Given the description of an element on the screen output the (x, y) to click on. 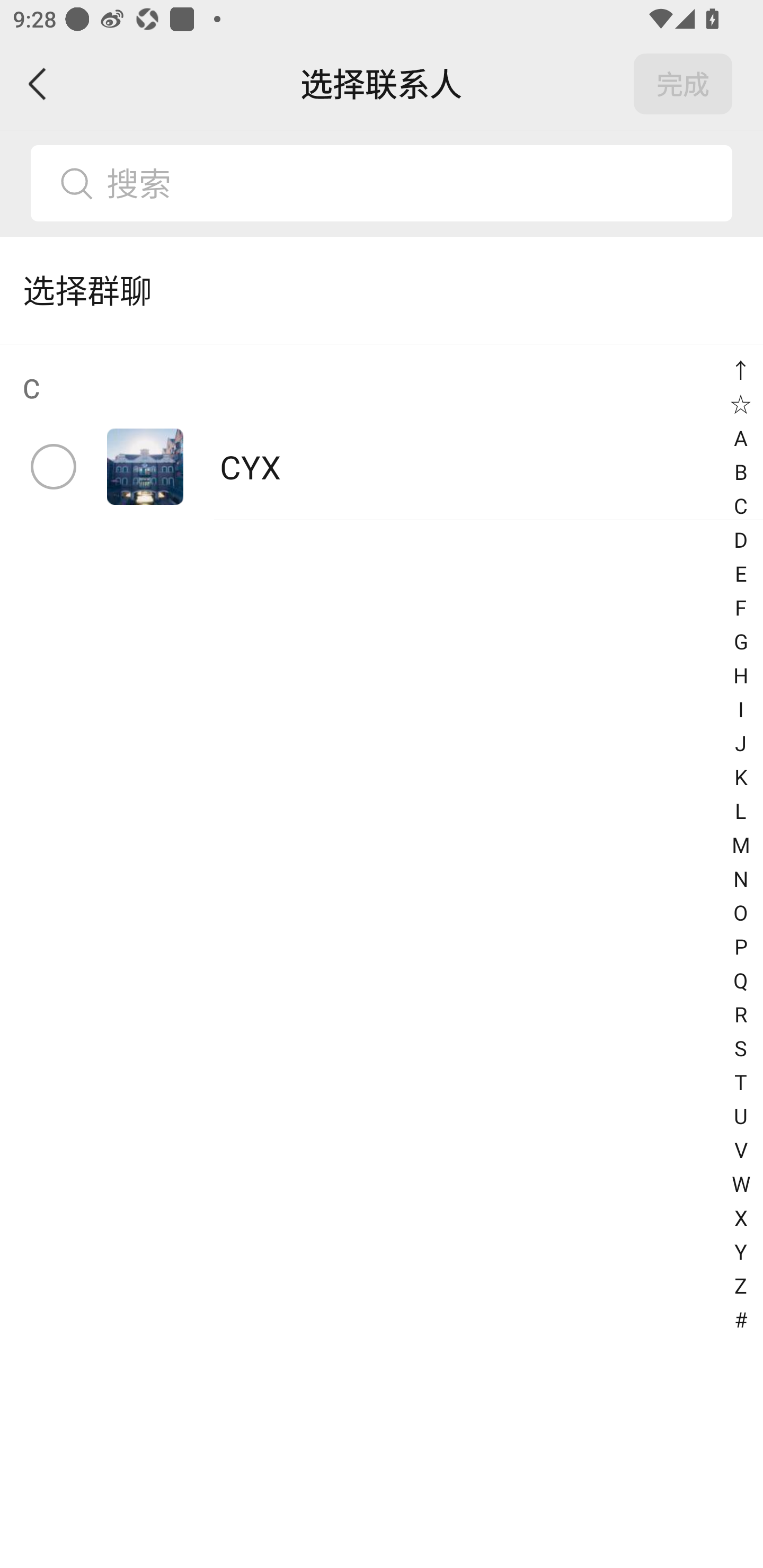
返回 (38, 83)
完成 (683, 83)
搜索 (381, 183)
搜索 (411, 183)
选择群聊 (381, 290)
C CYX (381, 432)
